Given the description of an element on the screen output the (x, y) to click on. 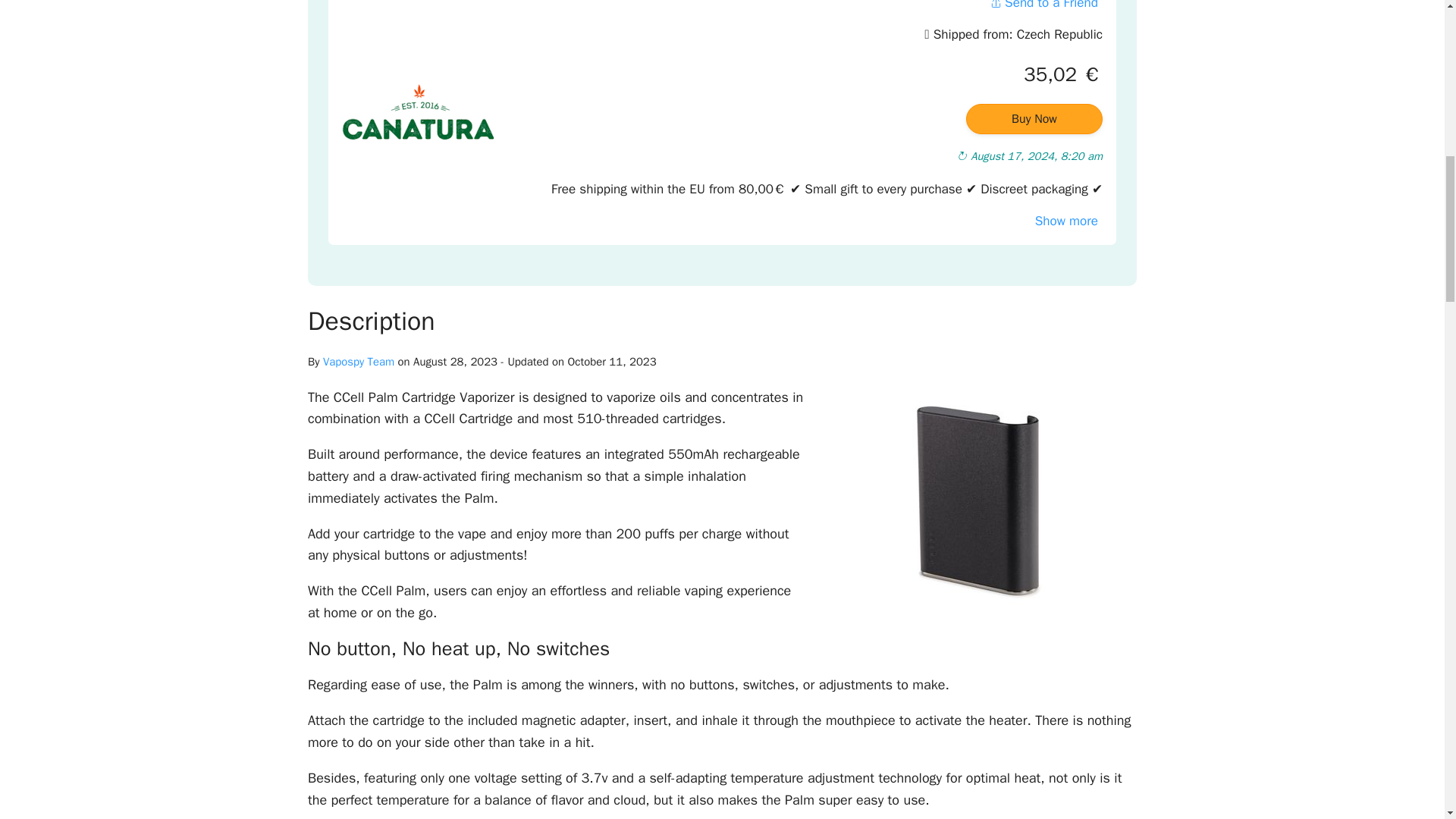
Show more (1066, 221)
Send to a Friend (1043, 7)
Vapospy Team (358, 361)
Canatura (417, 113)
Buy Now (1034, 119)
